Given the description of an element on the screen output the (x, y) to click on. 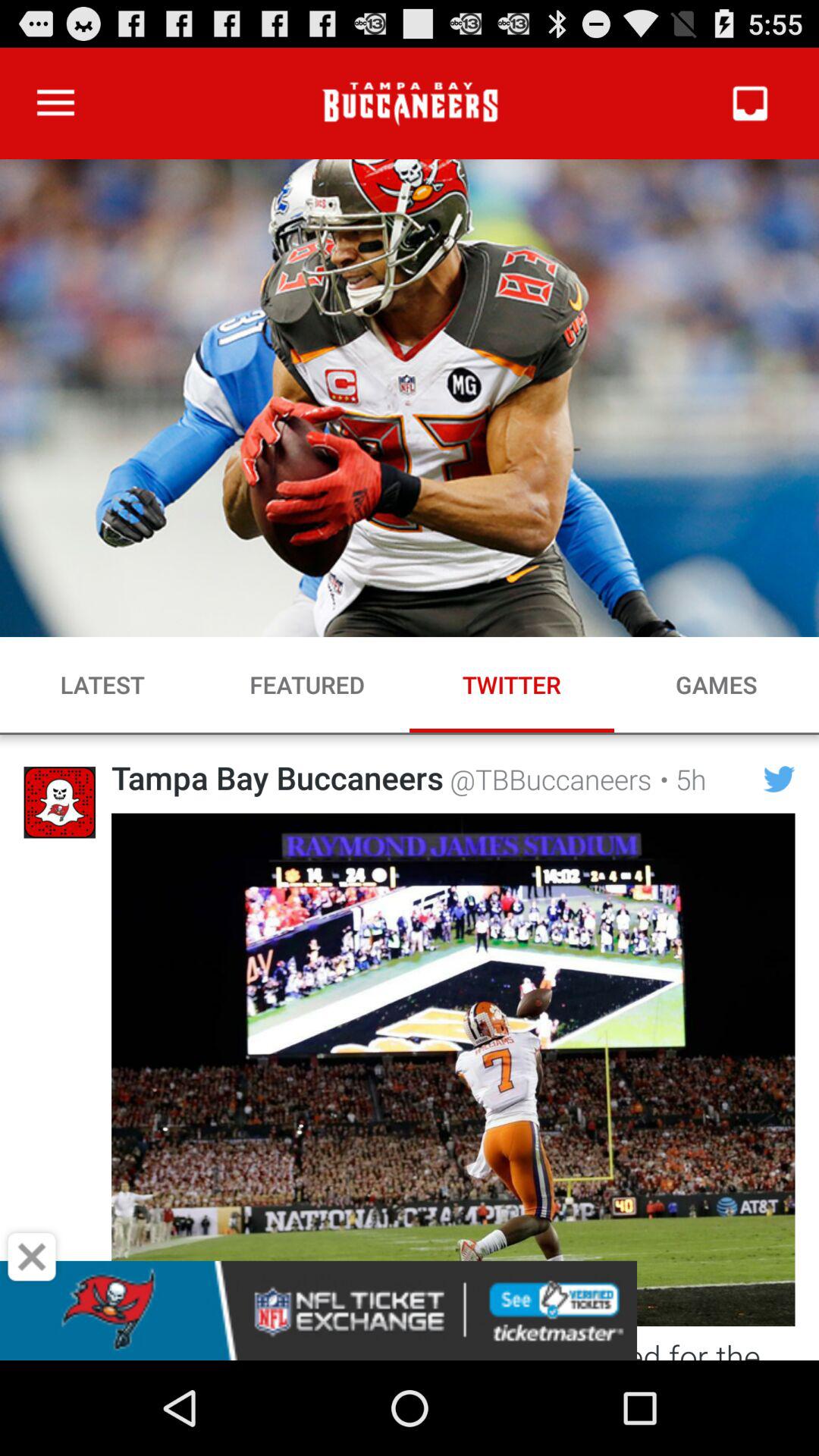
open advertisement (409, 1310)
